Given the description of an element on the screen output the (x, y) to click on. 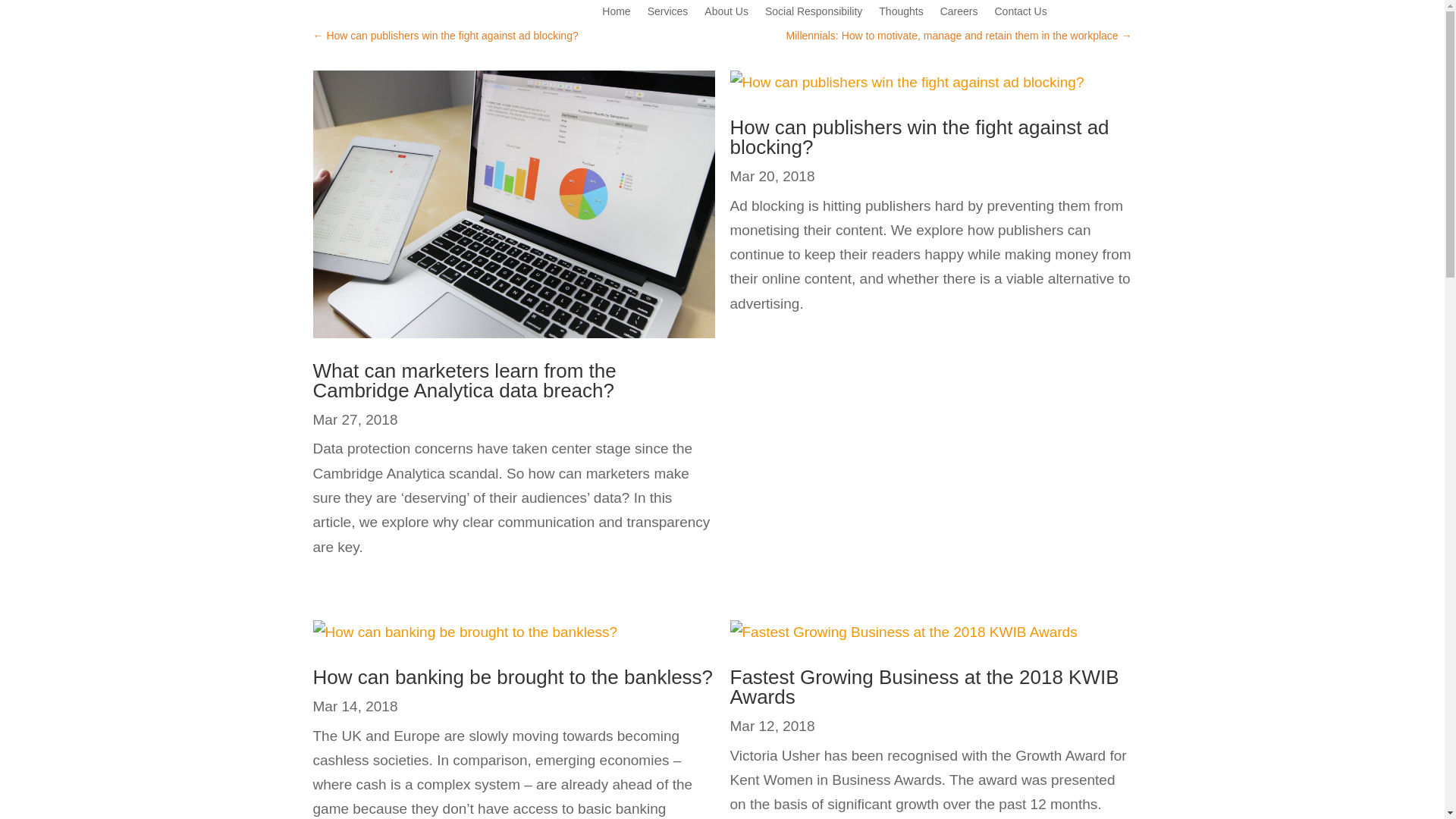
Services (667, 13)
How can publishers win the fight against ad blocking? (918, 137)
Fastest Growing Business at the 2018 KWIB Awards (923, 686)
Careers (959, 13)
How can banking be brought to the bankless? (513, 676)
About Us (726, 13)
Social Responsibility (813, 13)
Contact Us (1020, 13)
Thoughts (901, 13)
